Given the description of an element on the screen output the (x, y) to click on. 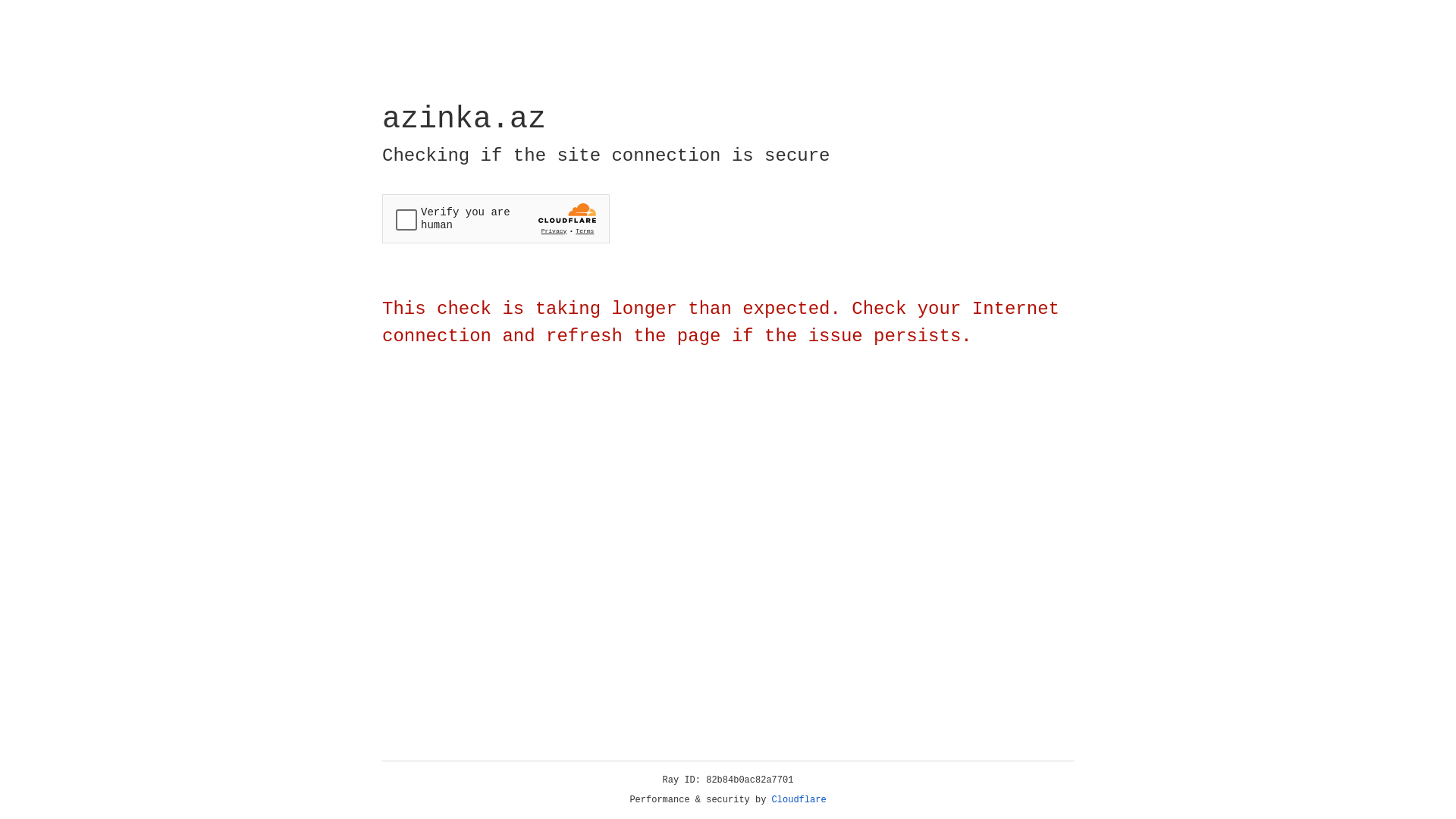
Cloudflare Element type: text (798, 799)
Widget containing a Cloudflare security challenge Element type: hover (495, 218)
